Given the description of an element on the screen output the (x, y) to click on. 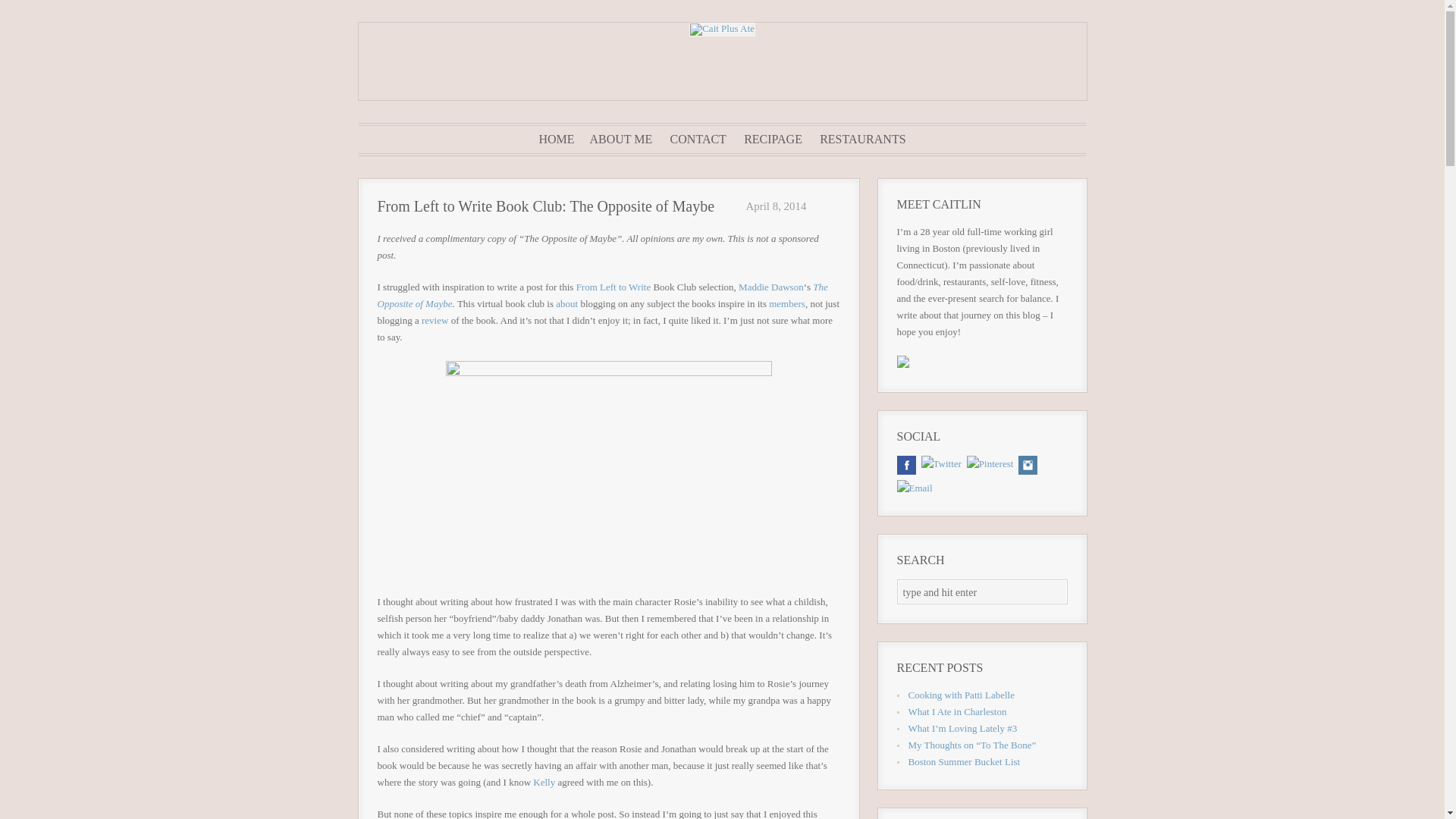
What I Ate in Charleston (957, 711)
HOME (555, 139)
members (786, 303)
From Left to Write (613, 286)
review (435, 319)
Maddie Dawson (770, 286)
RECIPAGE (773, 139)
April 8, 2014 (774, 205)
type and hit enter (981, 591)
about (567, 303)
